Given the description of an element on the screen output the (x, y) to click on. 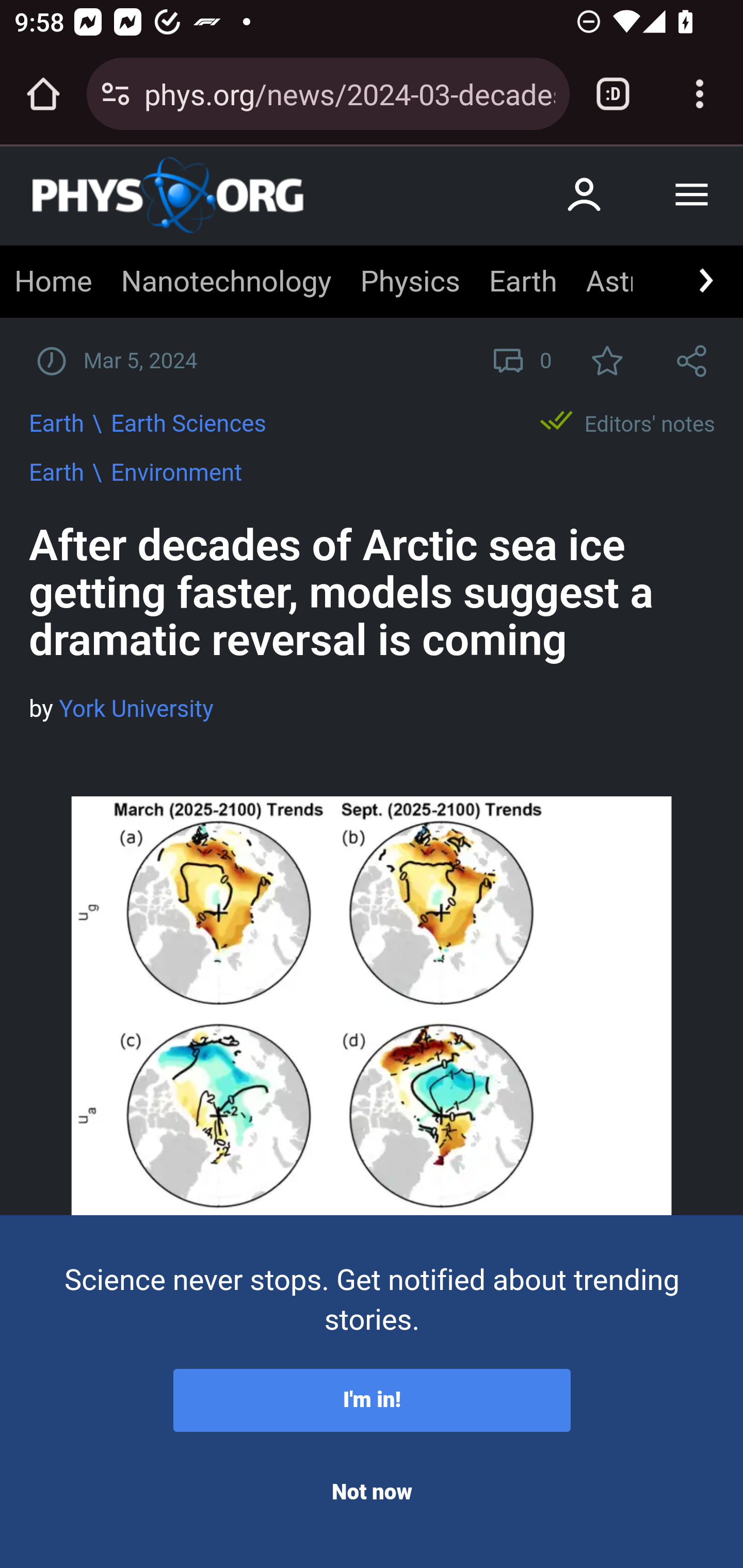
Open the home page (43, 93)
Connection is secure (115, 93)
Switch or close tabs (612, 93)
Customize and control Google Chrome (699, 93)
 (690, 194)
phys (167, 195)
 (584, 193)
Home (53, 281)
Nanotechnology (225, 281)
Physics (408, 281)
Earth (522, 281)
Astronomy & Space (609, 281)
 (705, 280)
 (56, 361)
 0  0 (517, 361)
 (606, 361)
 (691, 361)
 Editors' notes   Editors' notes (624, 421)
Earth (56, 424)
Earth Sciences (188, 424)
Earth (56, 472)
Environment (176, 472)
York University (135, 709)
I'm in! (371, 1400)
Not now (371, 1492)
